Given the description of an element on the screen output the (x, y) to click on. 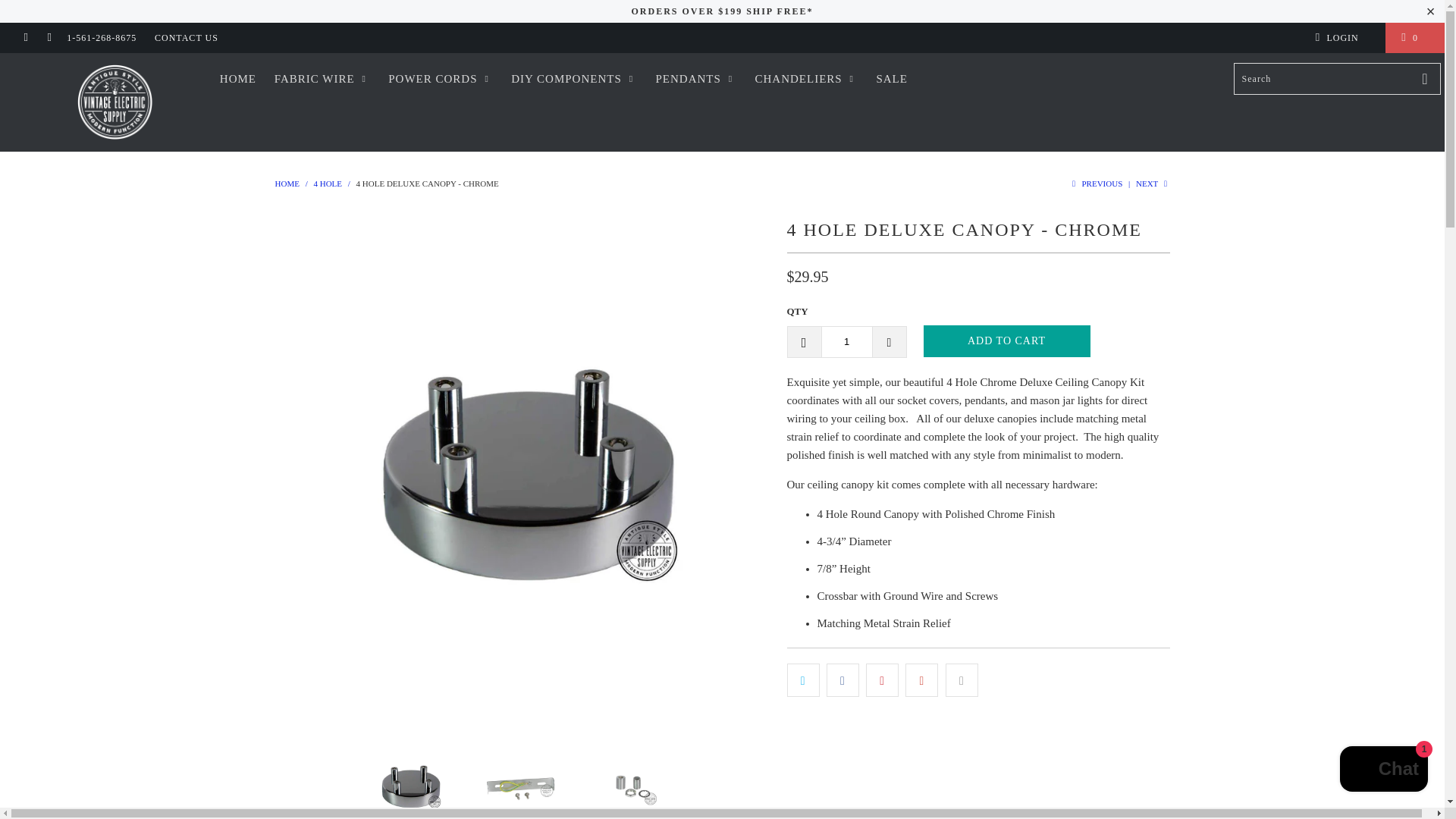
Share this on Facebook (843, 679)
1 (846, 341)
4 Hole (327, 183)
Vintage Electric Supply (115, 102)
My Account  (1342, 37)
Vintage Electric Supply on Facebook (25, 37)
Share this on Twitter (803, 679)
Next (1152, 183)
Vintage Electric Supply on Instagram (48, 37)
Vintage Electric Supply (286, 183)
Share this on Pinterest (882, 679)
Email this to a friend (961, 679)
Previous (1095, 183)
